Given the description of an element on the screen output the (x, y) to click on. 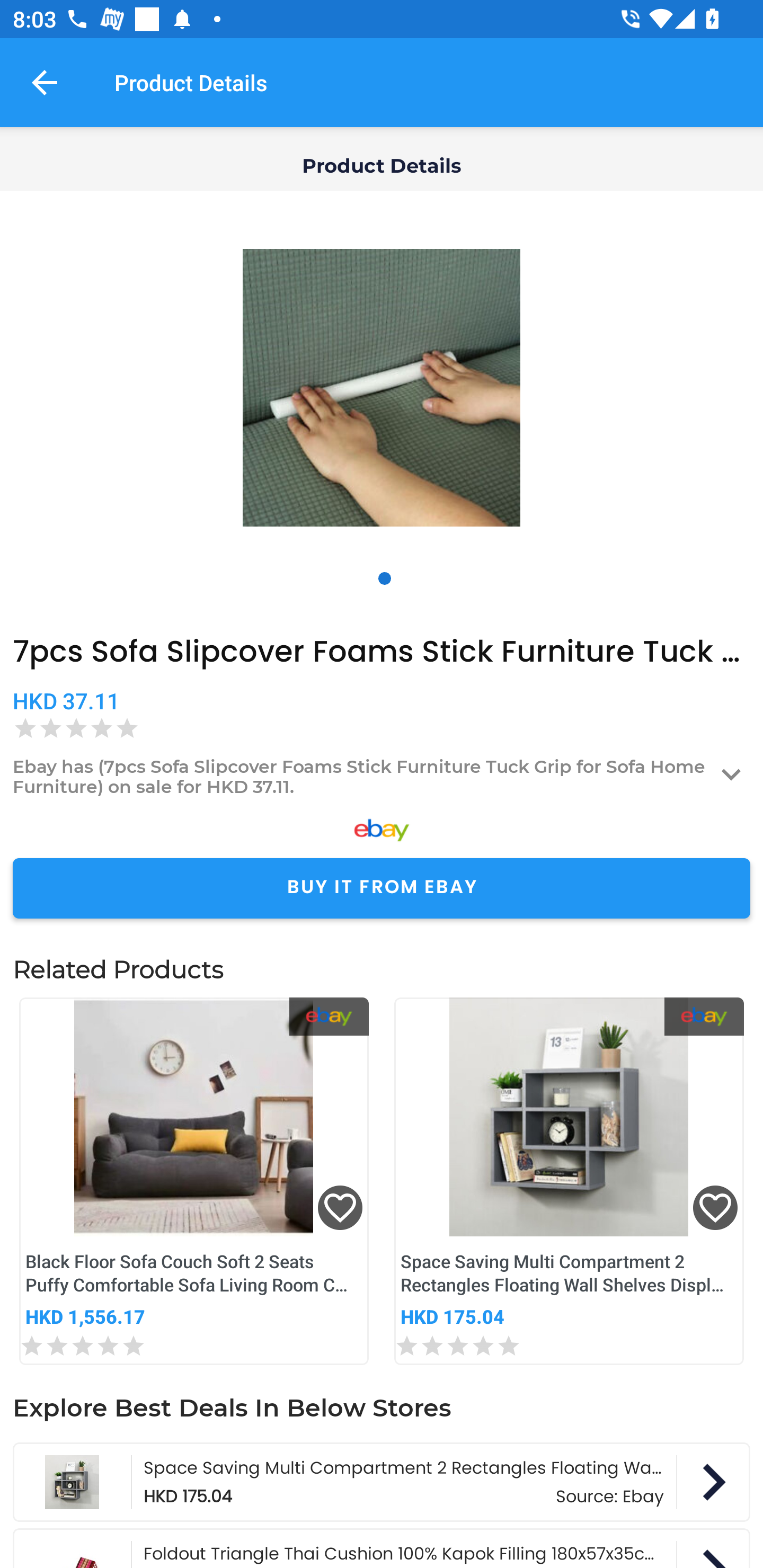
Navigate up (44, 82)
BUY IT FROM EBAY (381, 888)
